Given the description of an element on the screen output the (x, y) to click on. 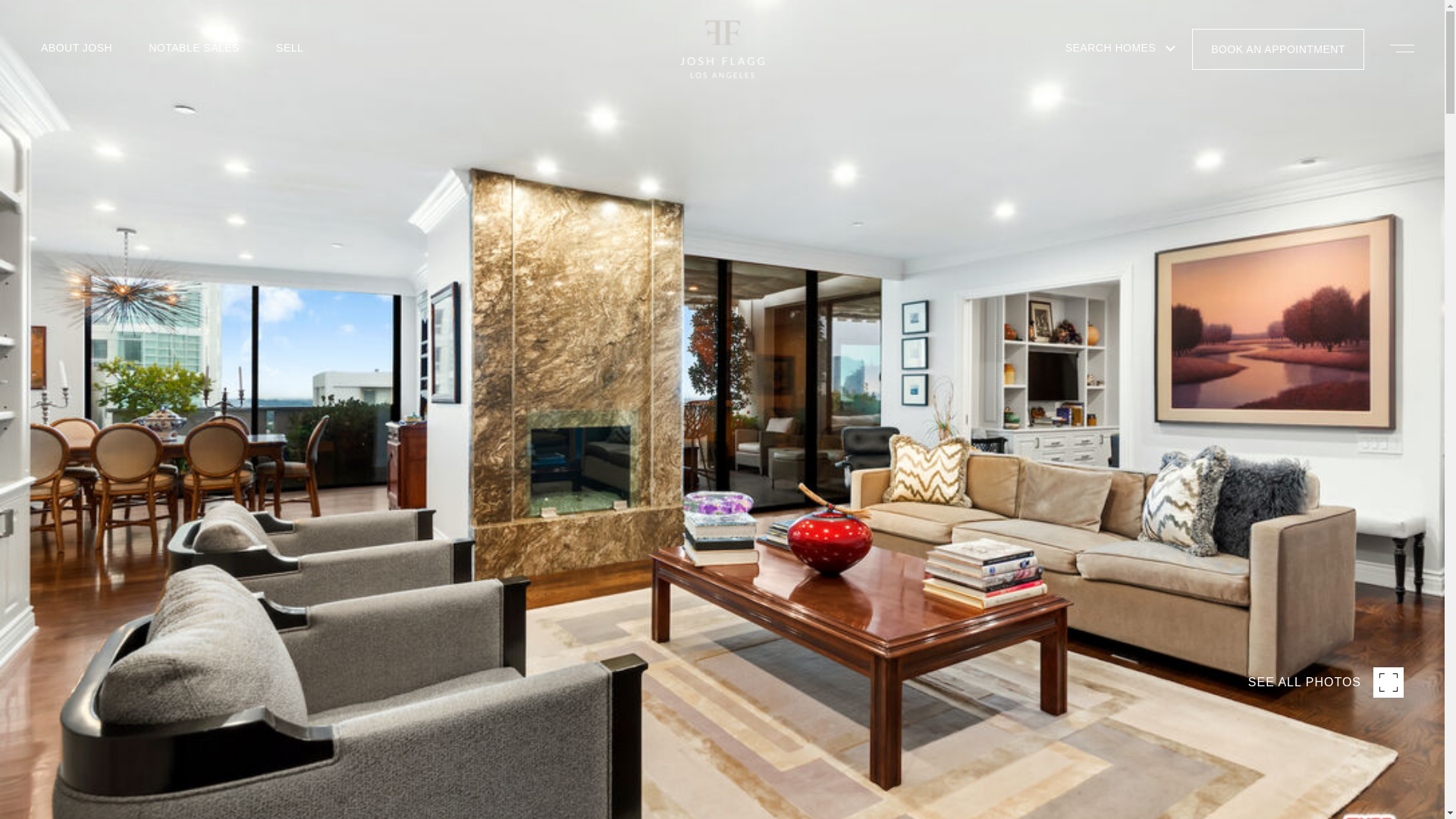
SELL (289, 75)
NOTABLE SALES (194, 78)
BOOK AN APPOINTMENT (1278, 51)
ABOUT JOSH (77, 82)
SEARCH HOMES (1110, 67)
